Given the description of an element on the screen output the (x, y) to click on. 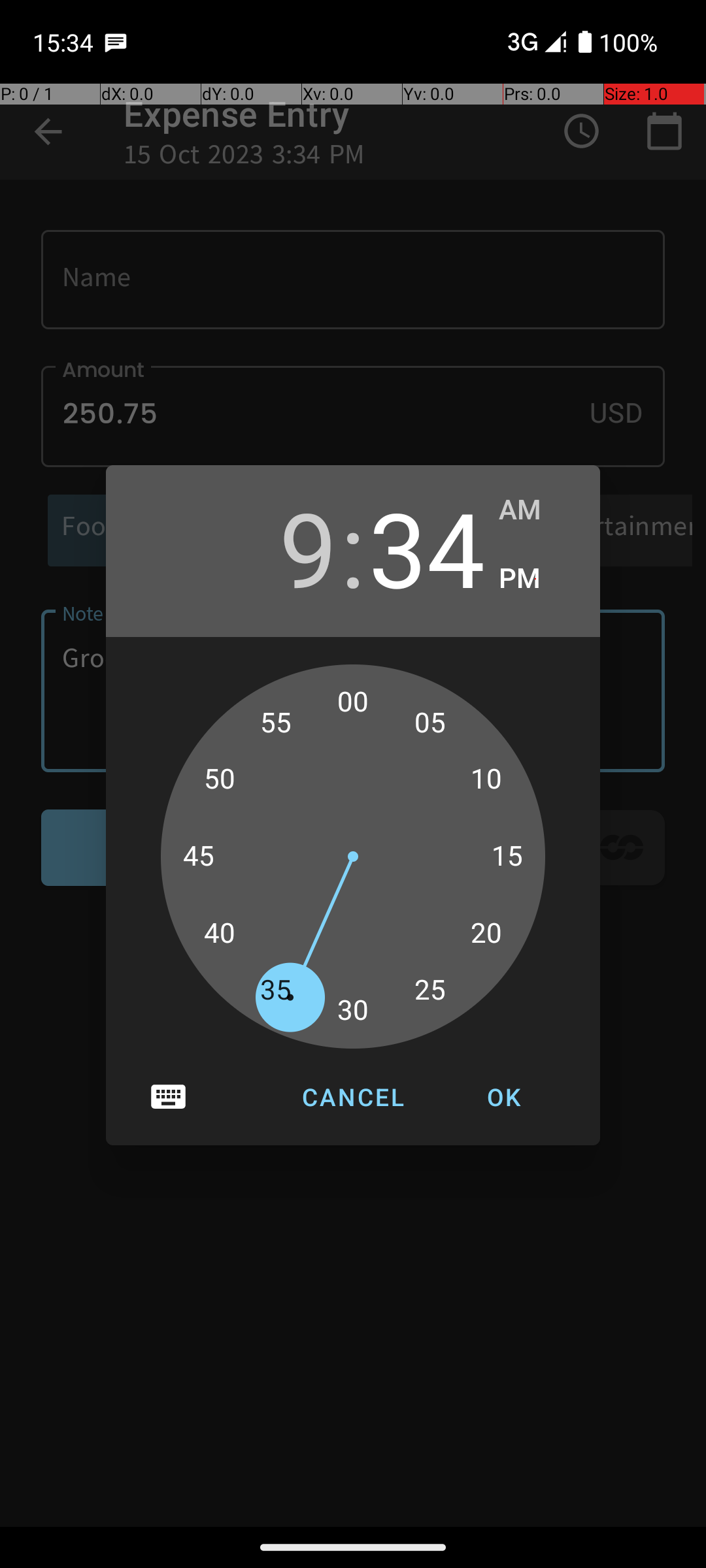
34 Element type: android.widget.TextView (426, 547)
35 Element type: android.widget.RadialTimePickerView$RadialPickerTouchHelper (275, 989)
40 Element type: android.widget.RadialTimePickerView$RadialPickerTouchHelper (218, 933)
45 Element type: android.widget.RadialTimePickerView$RadialPickerTouchHelper (198, 856)
50 Element type: android.widget.RadialTimePickerView$RadialPickerTouchHelper (218, 779)
55 Element type: android.widget.RadialTimePickerView$RadialPickerTouchHelper (275, 722)
AM Element type: android.widget.RadioButton (535, 510)
PM Element type: android.widget.RadioButton (535, 578)
SMS Messenger notification: +12845986552 Element type: android.widget.ImageView (115, 41)
